Given the description of an element on the screen output the (x, y) to click on. 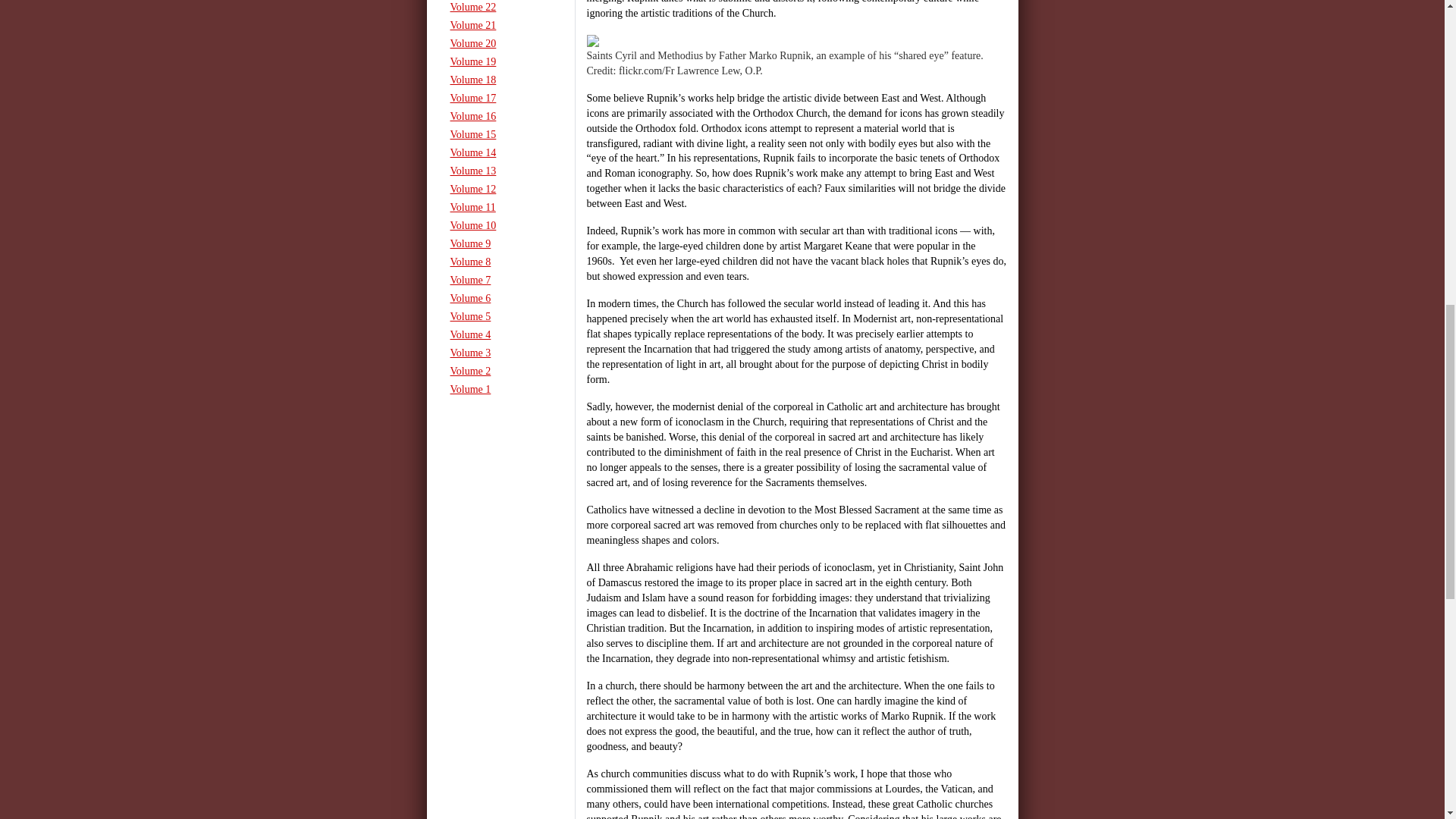
Volume 17 (500, 98)
Volume 21 (500, 25)
Volume 14 (500, 153)
Volume 22 (500, 8)
Volume 20 (500, 44)
Volume 16 (500, 116)
Volume 15 (500, 135)
Volume 19 (500, 62)
Volume 18 (500, 80)
